Given the description of an element on the screen output the (x, y) to click on. 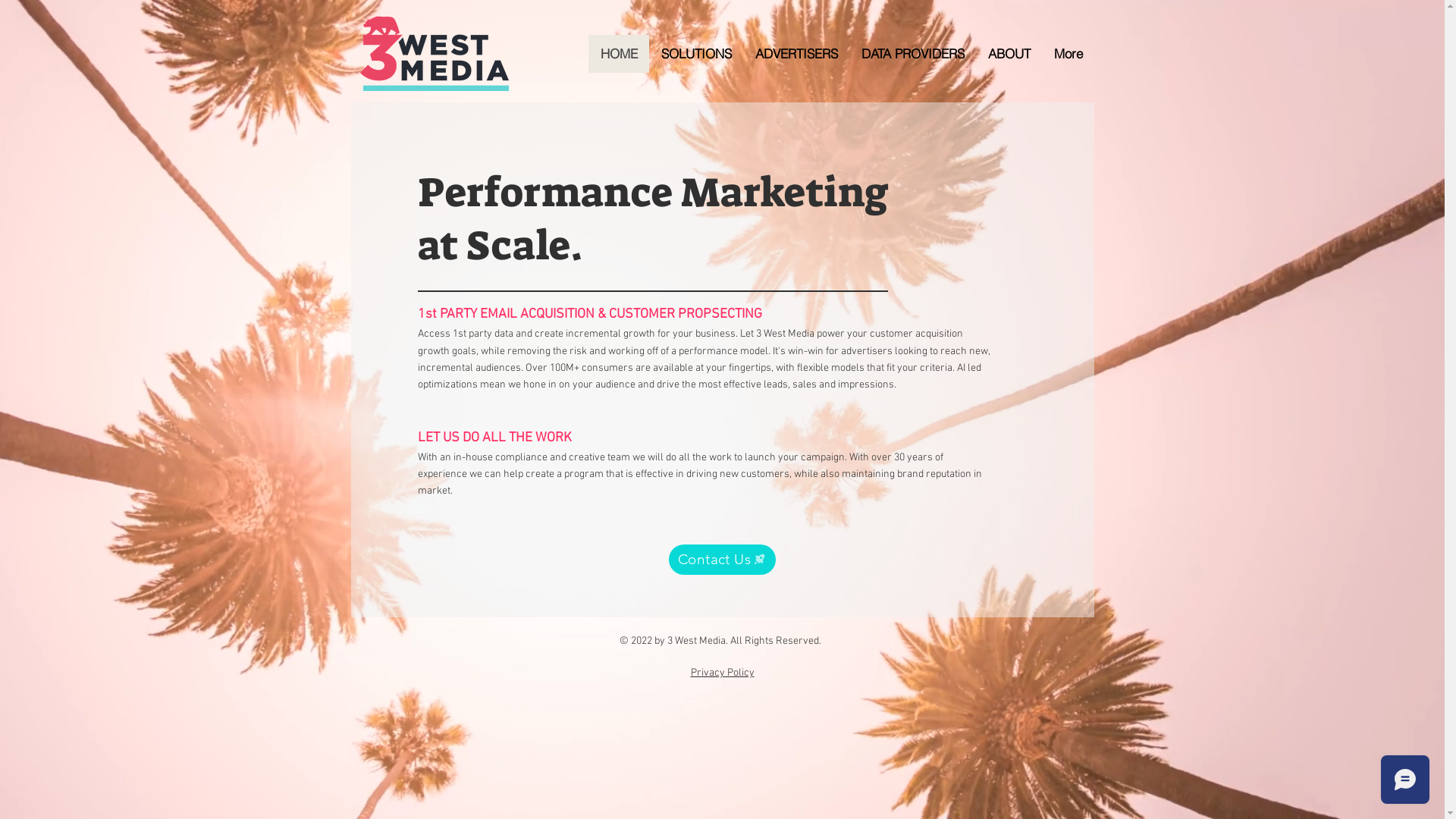
DATA PROVIDERS Element type: text (912, 53)
SOLUTIONS Element type: text (696, 53)
ADVERTISERS Element type: text (796, 53)
ABOUT Element type: text (1008, 53)
HOME Element type: text (618, 53)
Contact Us Element type: text (721, 559)
Privacy Policy Element type: text (721, 672)
